Given the description of an element on the screen output the (x, y) to click on. 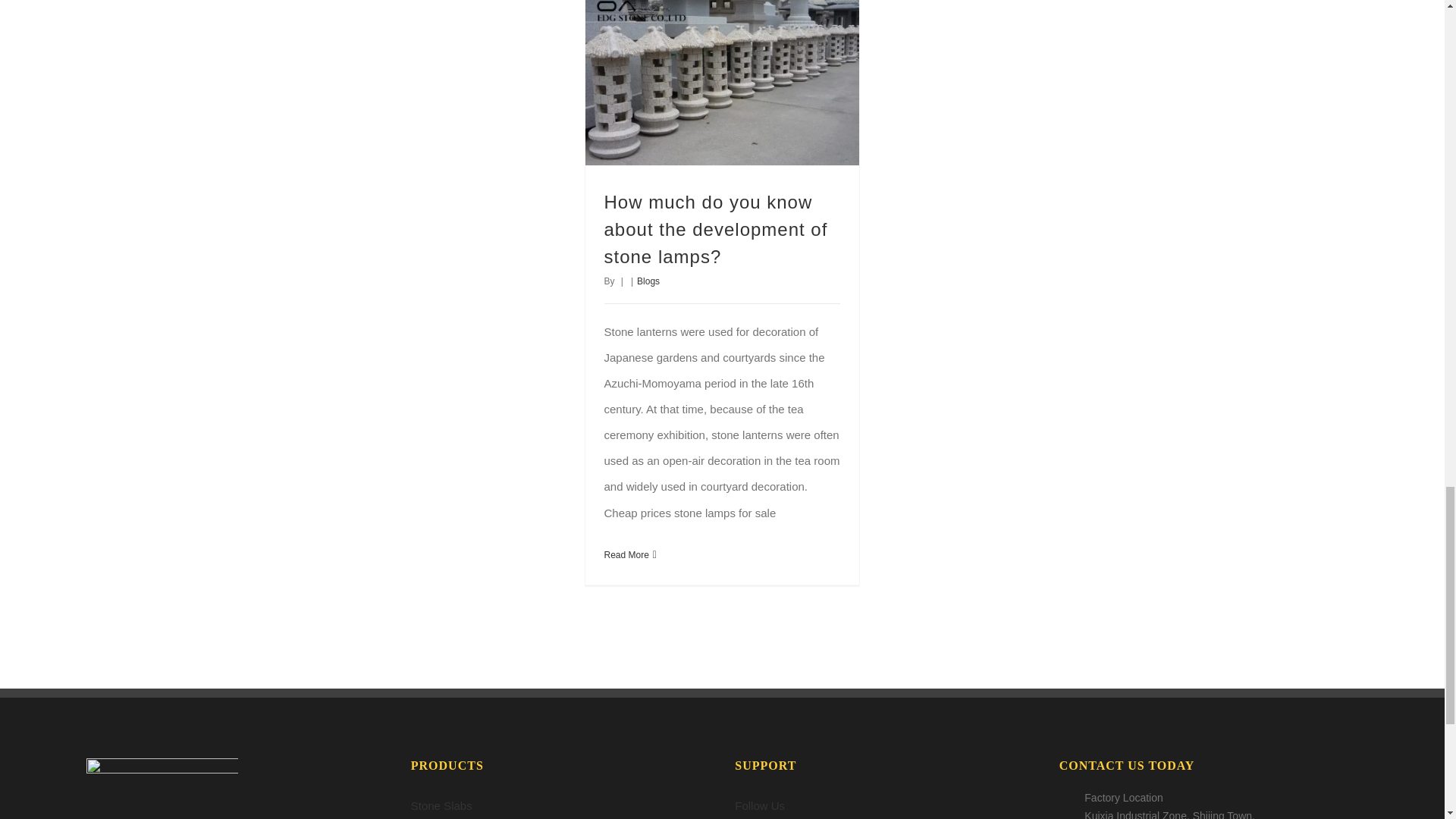
LOGO 3333333 (161, 786)
